Given the description of an element on the screen output the (x, y) to click on. 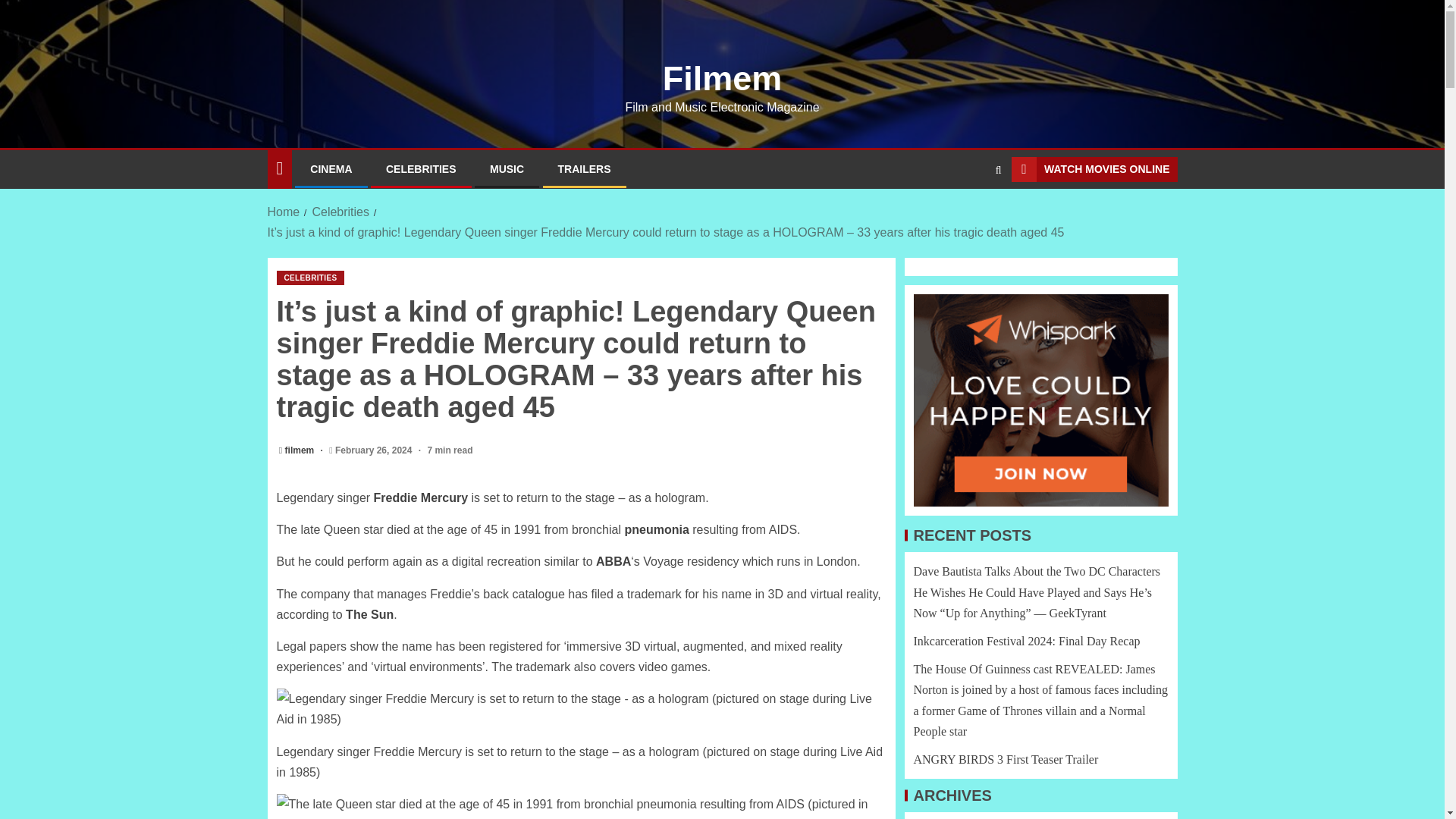
Search (968, 215)
WATCH MOVIES ONLINE (1093, 169)
Celebrities (340, 211)
Freddie Mercury (420, 497)
MUSIC (506, 168)
CELEBRITIES (309, 278)
CINEMA (331, 168)
CELEBRITIES (421, 168)
pneumonia (656, 529)
Home (282, 211)
ABBA (612, 561)
TRAILERS (584, 168)
Filmem (722, 77)
The Sun (369, 614)
filmem (301, 450)
